Given the description of an element on the screen output the (x, y) to click on. 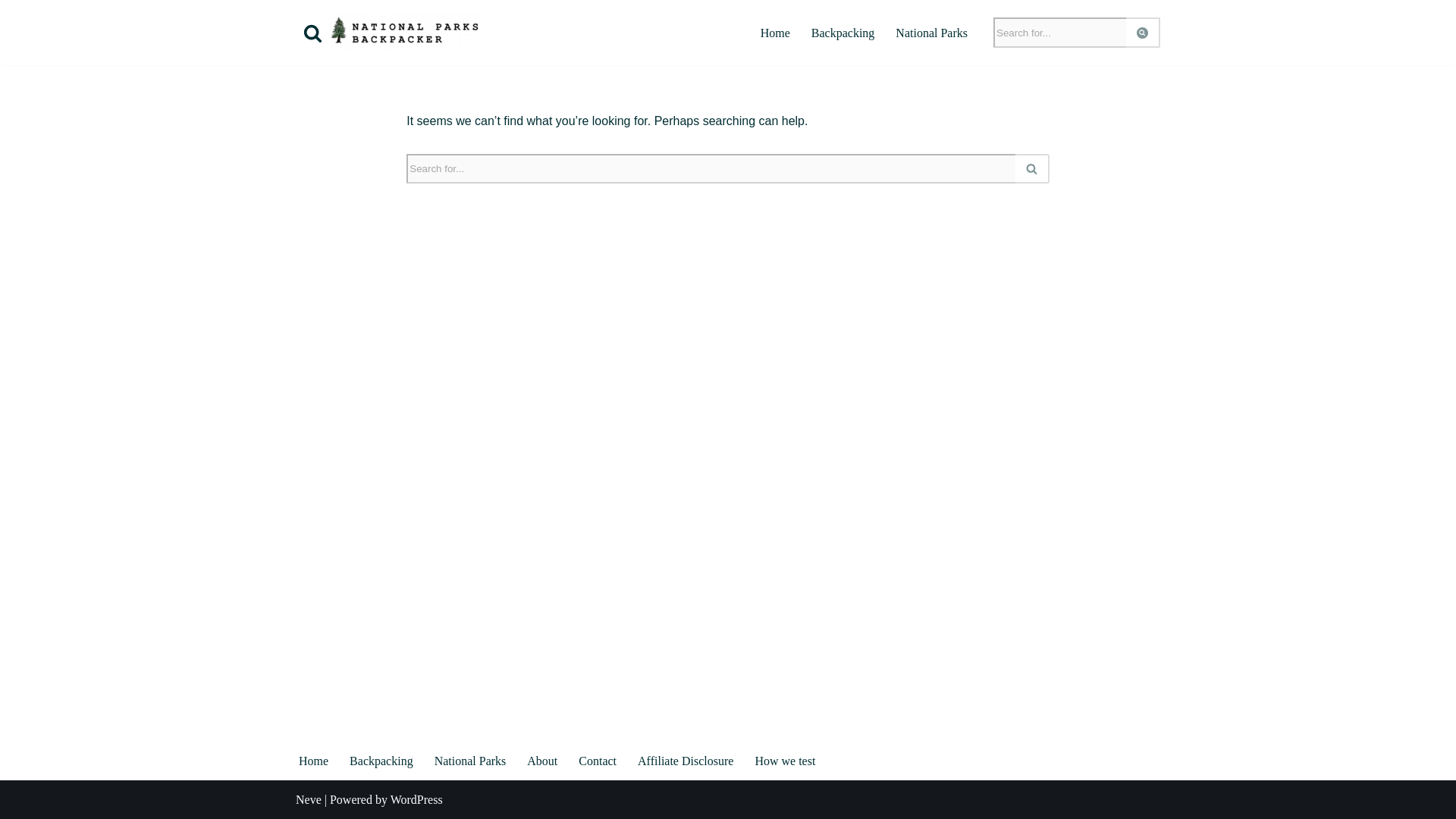
WordPress (416, 799)
Affiliate Disclosure (685, 761)
National Parks (469, 761)
Contact (596, 761)
Backpacking (381, 761)
Home (313, 761)
Neve (308, 799)
National Parks (931, 32)
Skip to content (11, 31)
About (542, 761)
Home (775, 32)
How we test (784, 761)
Backpacking (842, 32)
